Given the description of an element on the screen output the (x, y) to click on. 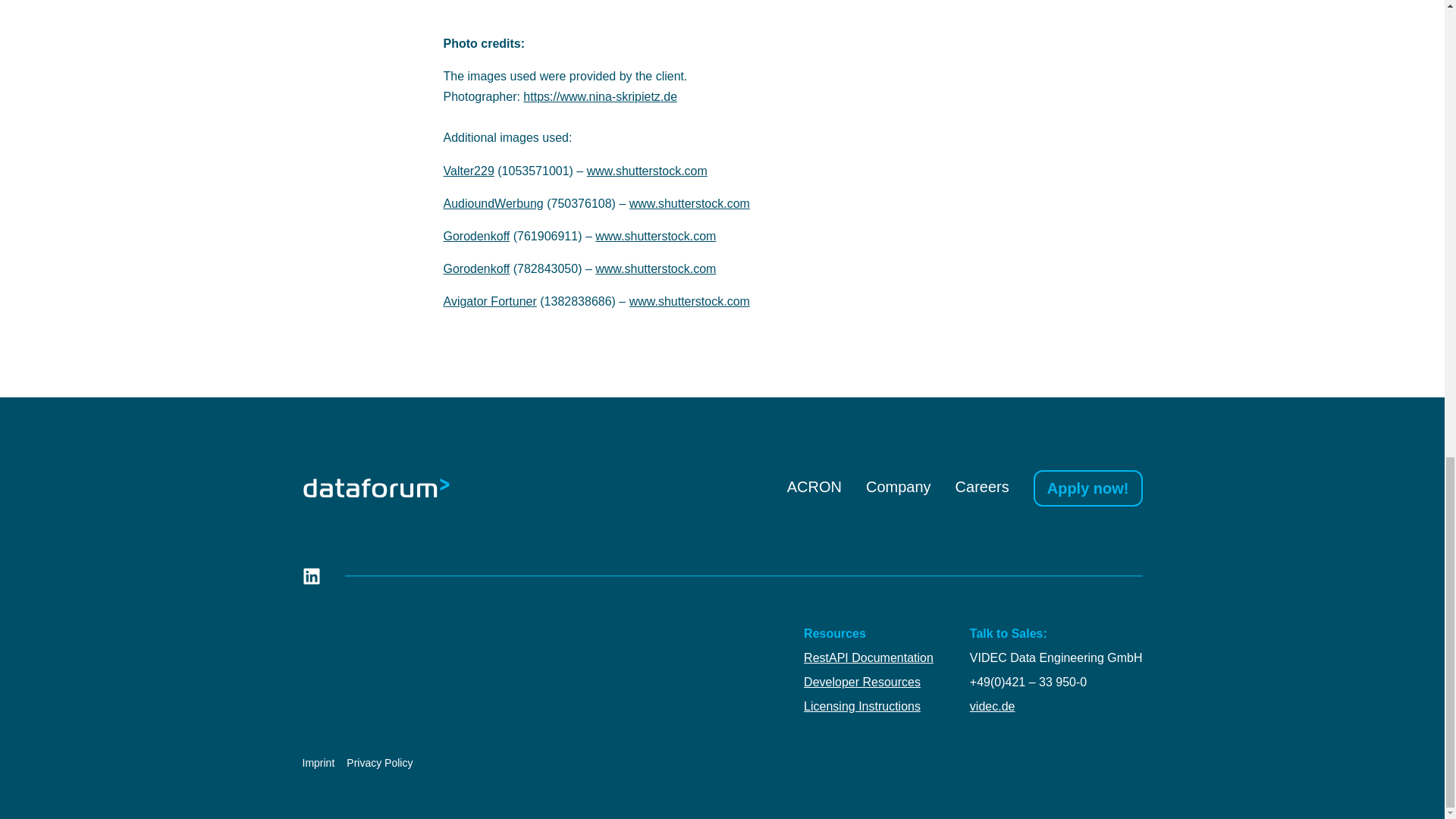
dataforum (375, 487)
Avigator Fortuner (488, 300)
Company (898, 486)
Imprint (317, 762)
Careers (982, 486)
www.shutterstock.com (646, 170)
www.shutterstock.com (688, 203)
Privacy Policy (379, 762)
AudioundWerbung (492, 203)
ACRON (814, 486)
Gorodenkoff (475, 268)
Licensing Instructions (868, 706)
Valter229 (467, 170)
www.shutterstock.com (655, 236)
Apply now! (1087, 488)
